Given the description of an element on the screen output the (x, y) to click on. 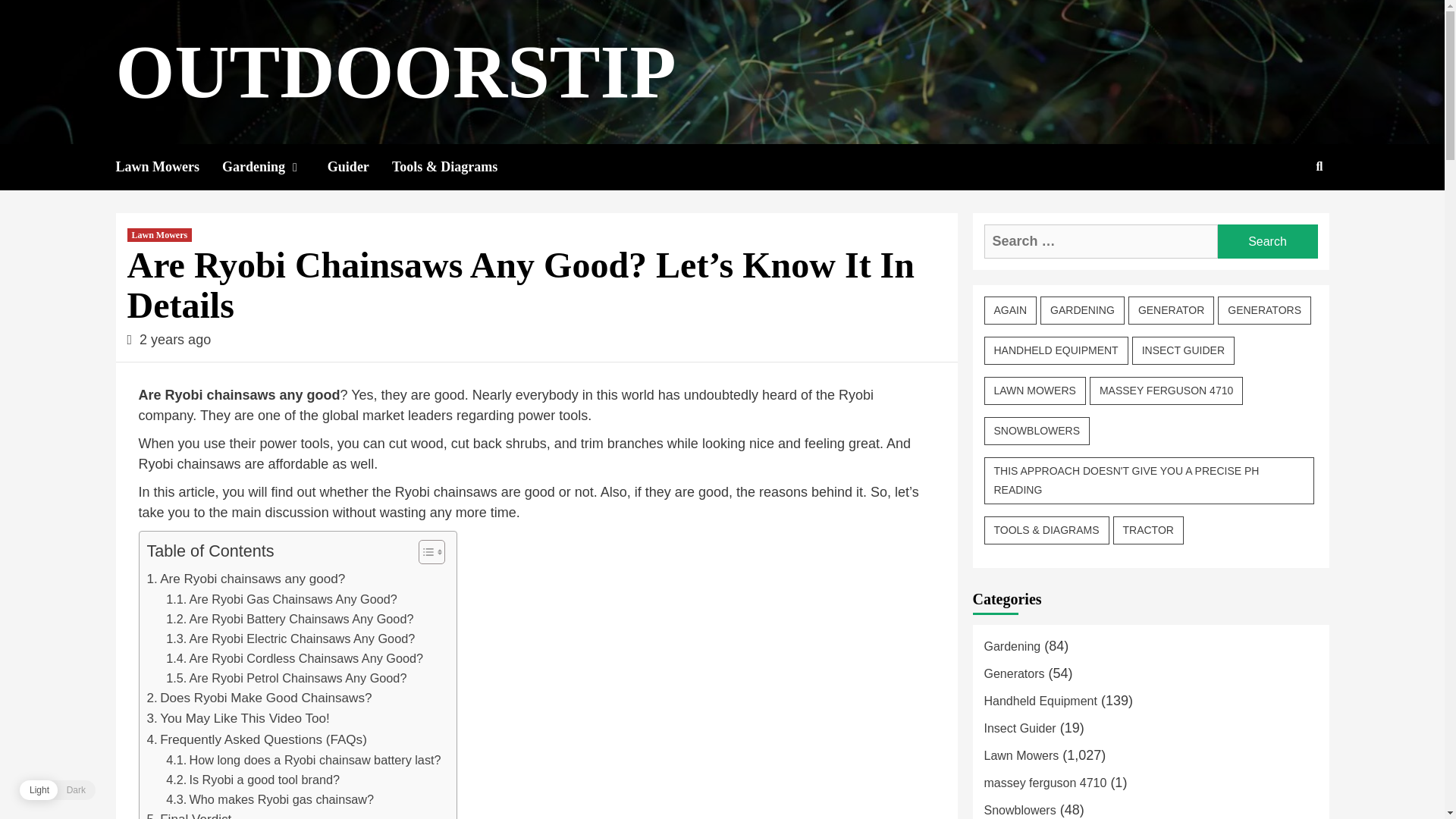
How long does a Ryobi chainsaw battery last? (303, 759)
Search (1283, 215)
Are Ryobi Cordless Chainsaws Any Good? (294, 658)
Gardening (274, 167)
Does Ryobi Make Good Chainsaws? (259, 697)
Are Ryobi Battery Chainsaws Any Good? (289, 618)
2 years ago (175, 339)
Search (1267, 241)
Are Ryobi chainsaws any good? (246, 578)
You May Like This Video Too! (238, 718)
Is Ryobi a good tool brand? (252, 779)
Guider (359, 167)
Does Ryobi Make Good Chainsaws? (259, 697)
OUTDOORSTIP (395, 71)
Are Ryobi Petrol Chainsaws Any Good? (285, 677)
